Given the description of an element on the screen output the (x, y) to click on. 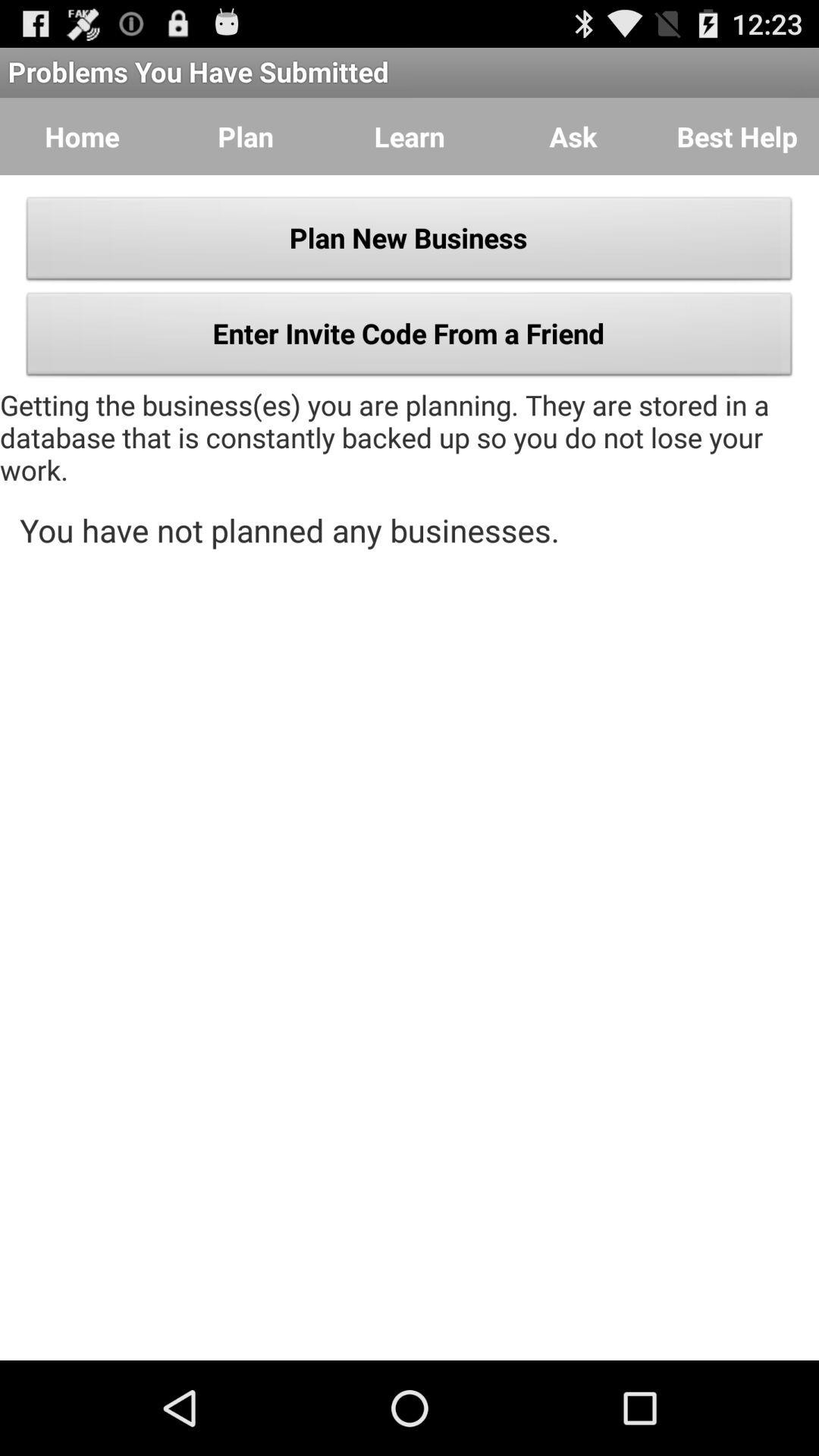
turn on item next to the ask button (409, 136)
